Given the description of an element on the screen output the (x, y) to click on. 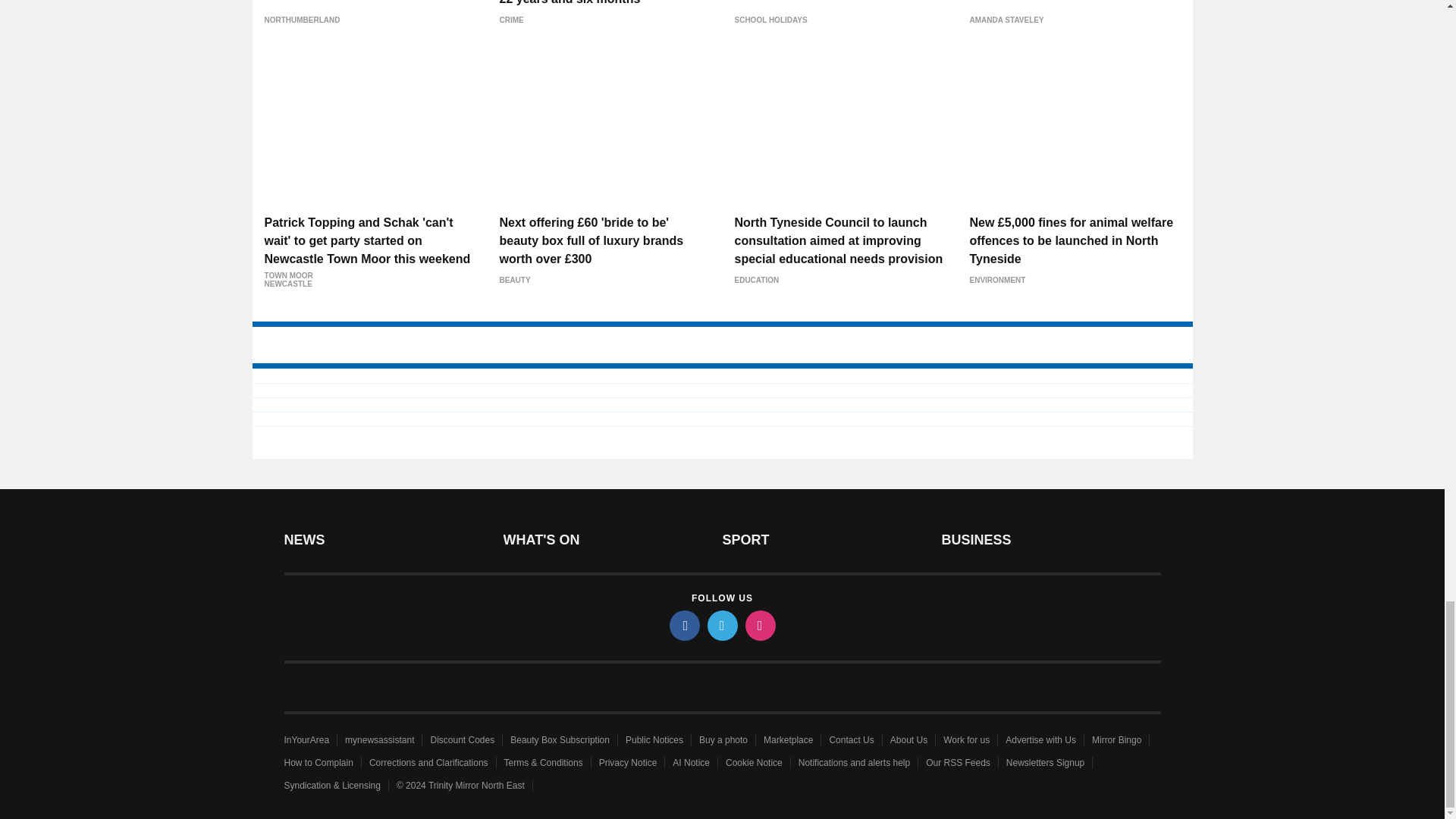
instagram (759, 625)
facebook (683, 625)
twitter (721, 625)
